Given the description of an element on the screen output the (x, y) to click on. 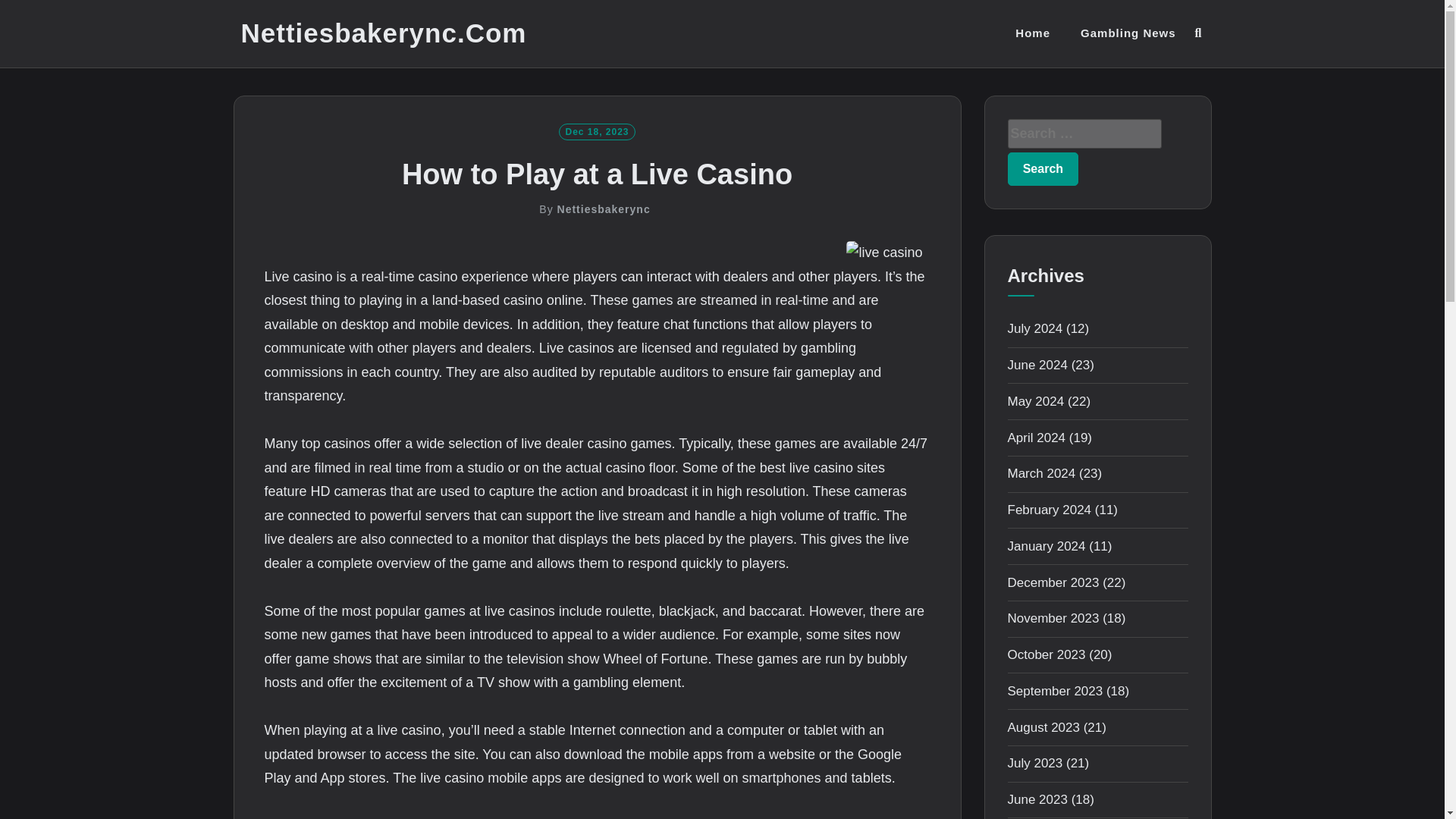
June 2023 (1037, 799)
Dec 18, 2023 (596, 130)
June 2024 (1037, 364)
July 2024 (1034, 328)
August 2023 (1042, 727)
May 2024 (1035, 400)
January 2024 (1045, 545)
Home (1031, 33)
Search (1042, 168)
December 2023 (1053, 582)
October 2023 (1045, 654)
March 2024 (1041, 473)
November 2023 (1053, 617)
Nettiesbakerync (603, 209)
April 2024 (1036, 437)
